Given the description of an element on the screen output the (x, y) to click on. 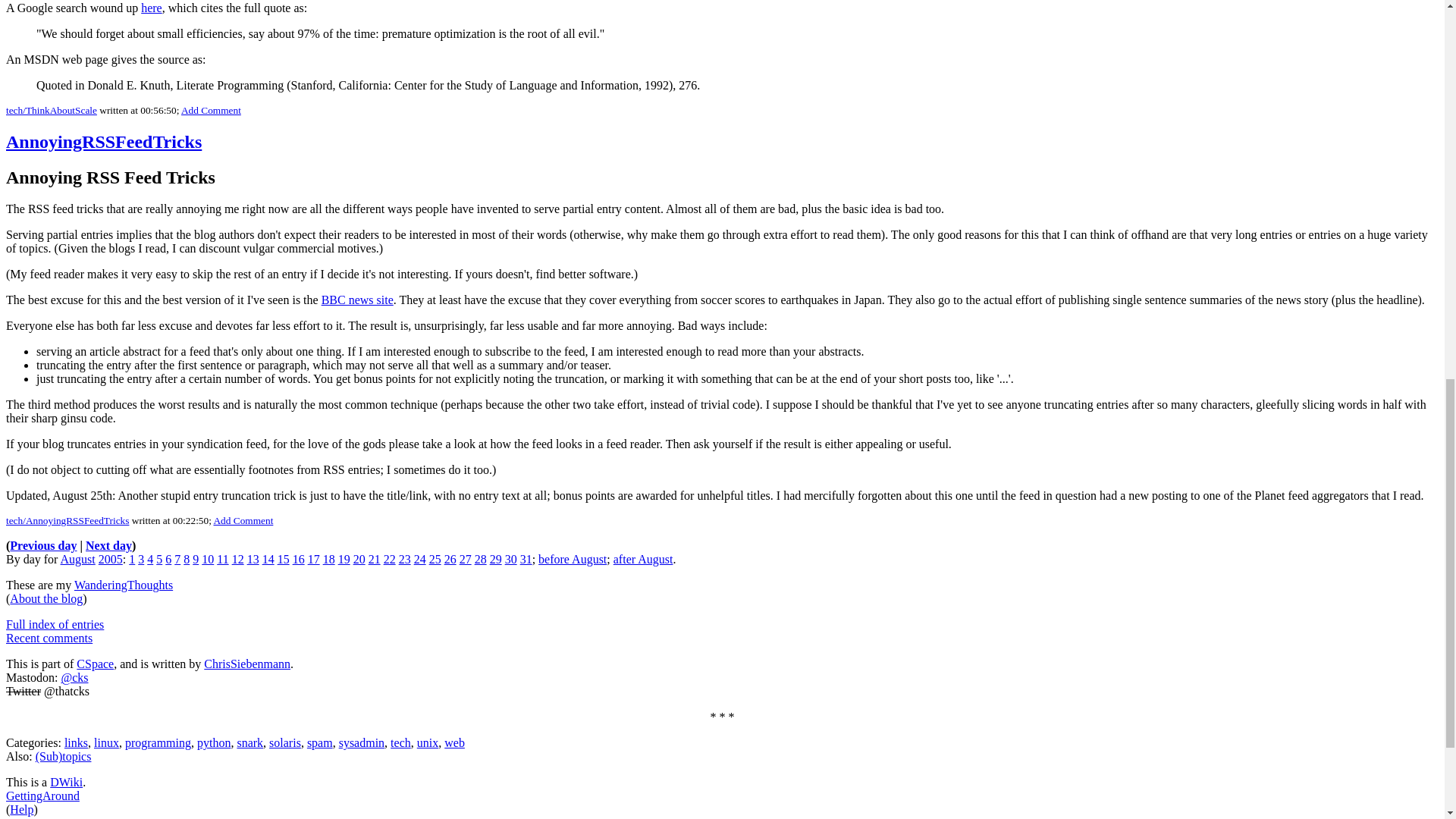
15 (283, 558)
Next day (108, 545)
16 (298, 558)
August (78, 558)
Previous day (43, 545)
14 (268, 558)
12 (237, 558)
13 (253, 558)
here (151, 7)
Add Comment (210, 110)
